Given the description of an element on the screen output the (x, y) to click on. 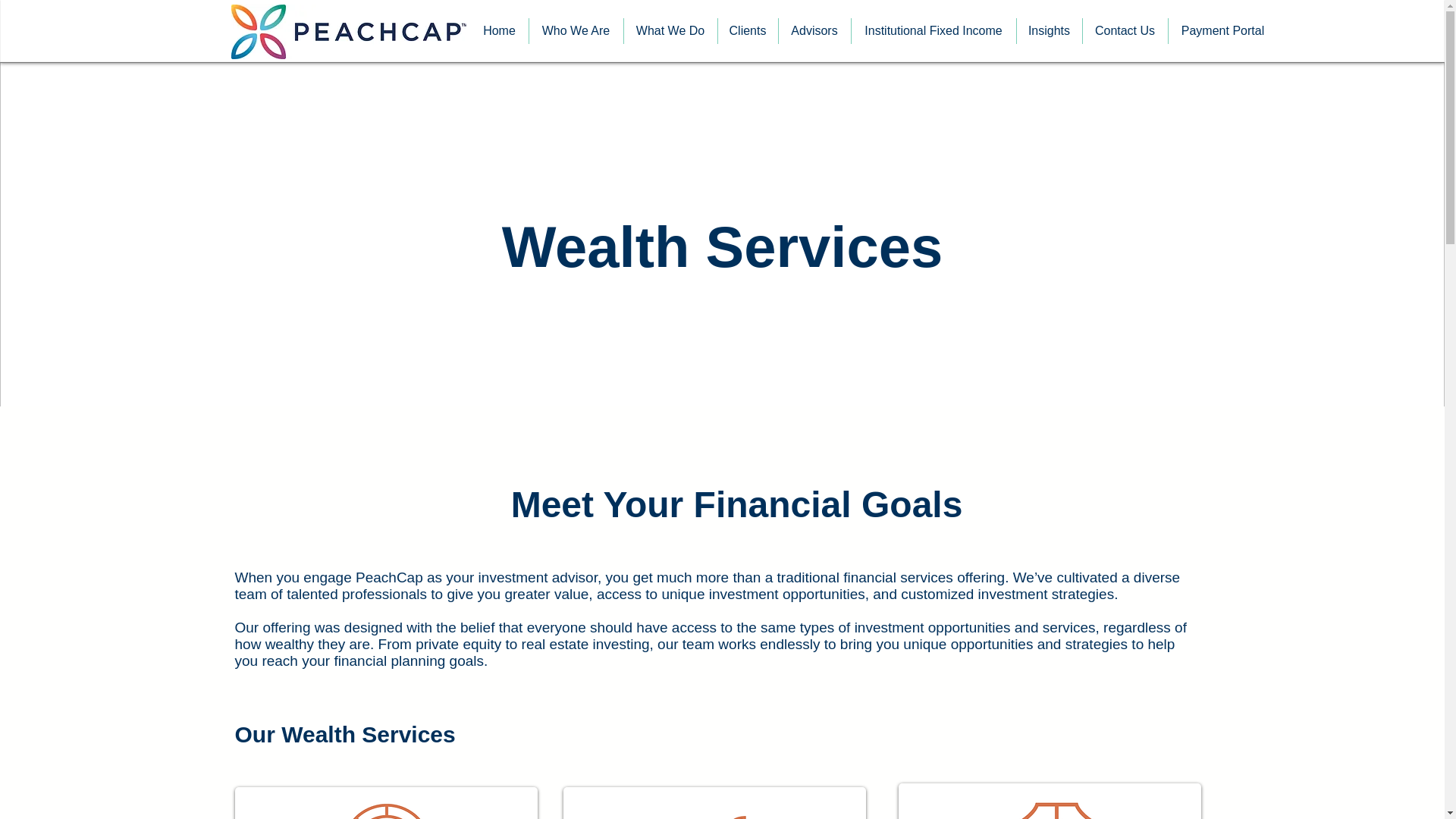
Payment Portal (1221, 31)
Institutional Fixed Income (932, 31)
What We Do (669, 31)
Contact Us (1125, 31)
Insights (1048, 31)
Who We Are (576, 31)
Advisors (813, 31)
Clients (747, 31)
Home (498, 31)
